Given the description of an element on the screen output the (x, y) to click on. 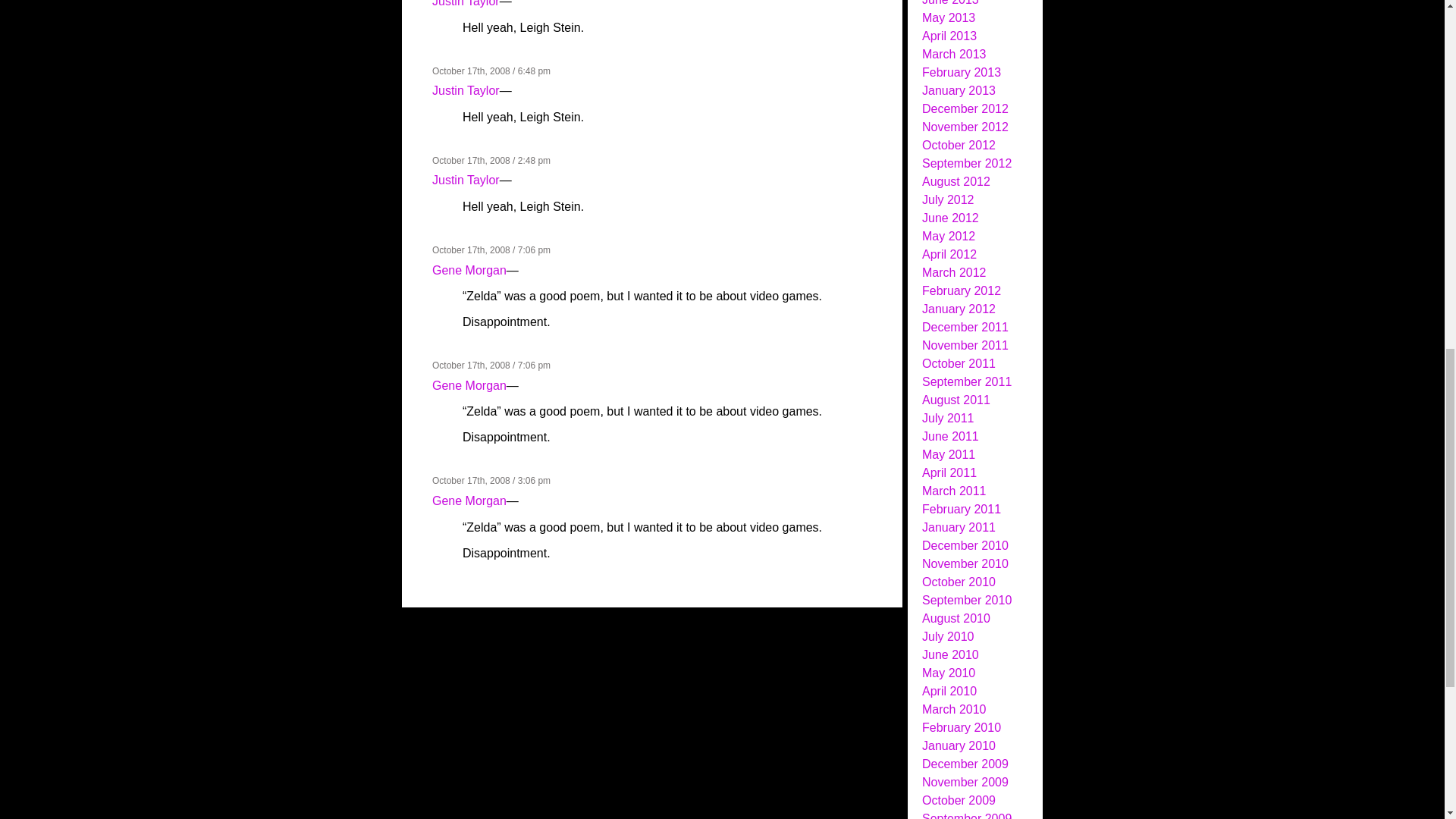
Justin Taylor (465, 3)
Justin Taylor (465, 179)
Gene Morgan (469, 500)
Gene Morgan (469, 385)
Gene Morgan (469, 269)
Justin Taylor (465, 90)
